Given the description of an element on the screen output the (x, y) to click on. 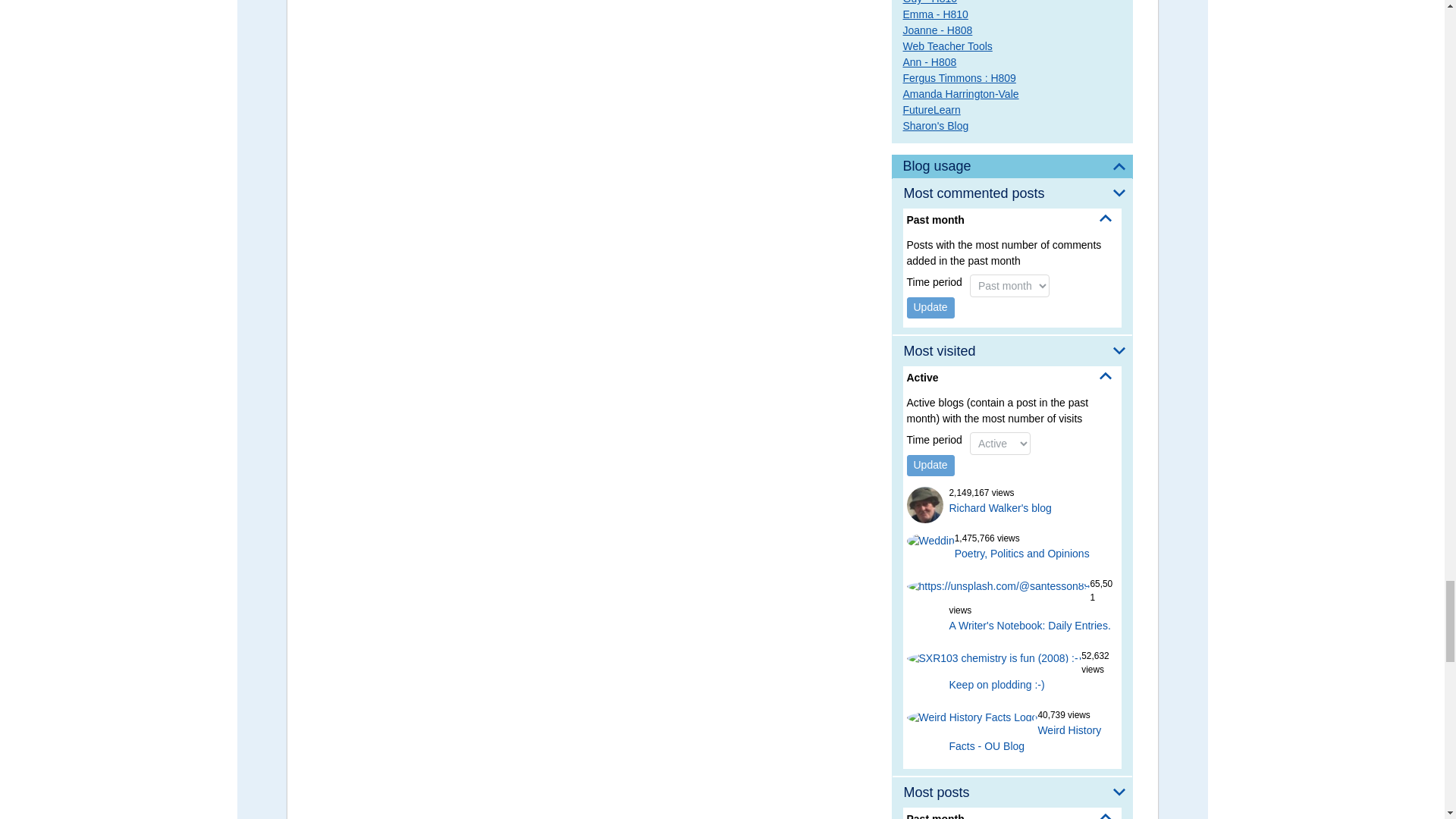
Update (931, 465)
Hide options (1105, 218)
Update (931, 307)
Blog usage (1011, 166)
